Given the description of an element on the screen output the (x, y) to click on. 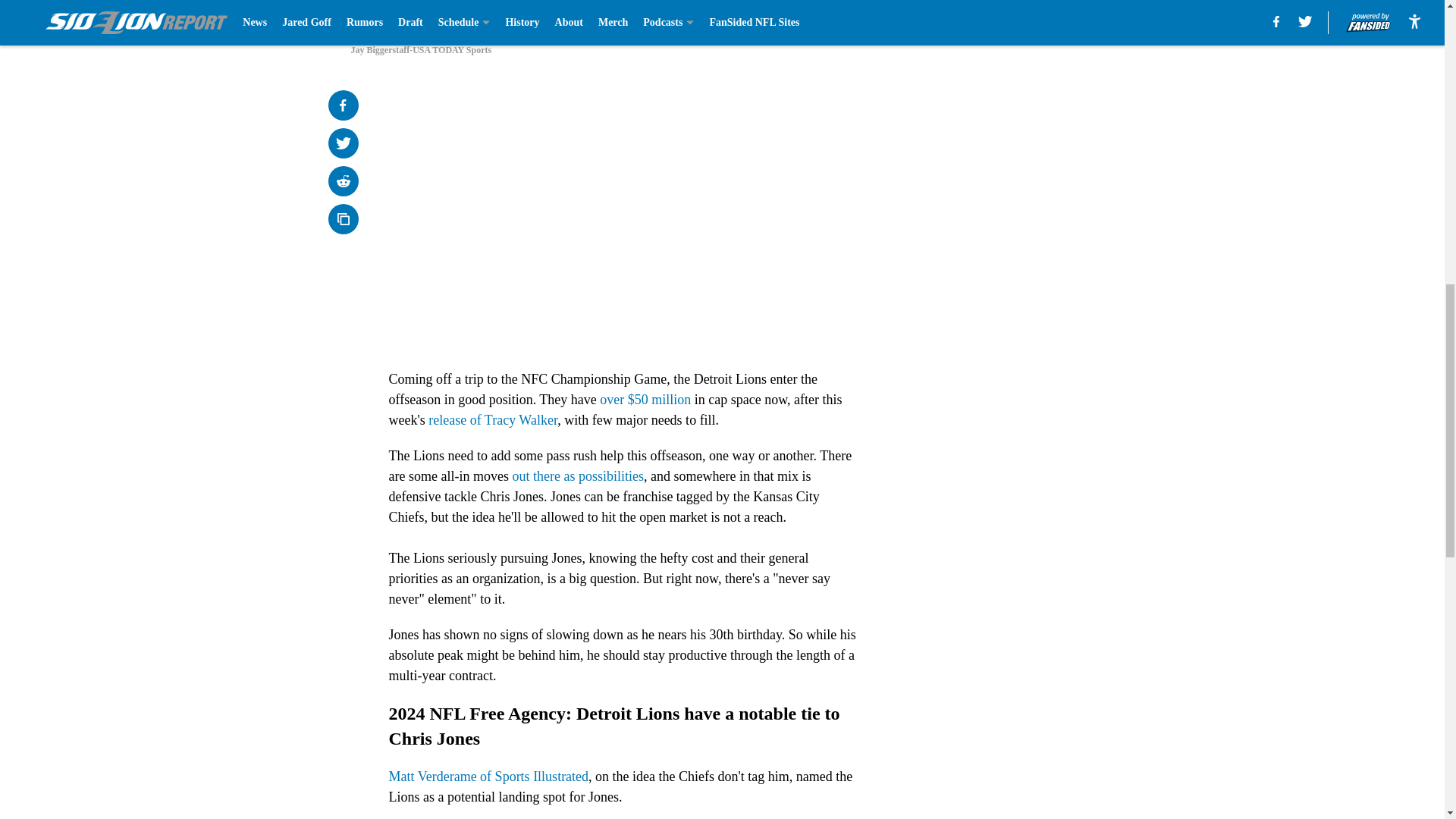
Matt Verderame of Sports Illustrated (488, 776)
release of Tracy Walker (492, 419)
out there as possibilities (577, 476)
